Given the description of an element on the screen output the (x, y) to click on. 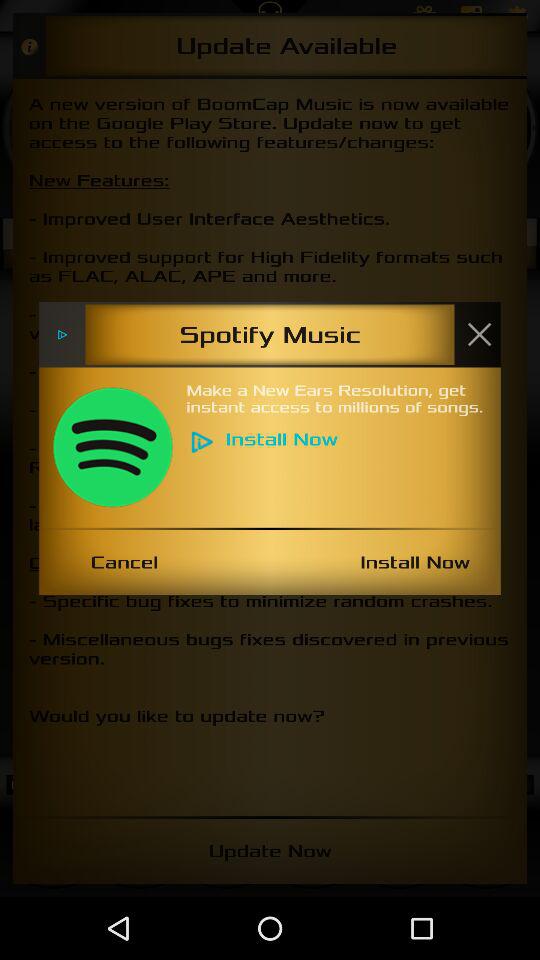
open item above make a new icon (479, 334)
